Given the description of an element on the screen output the (x, y) to click on. 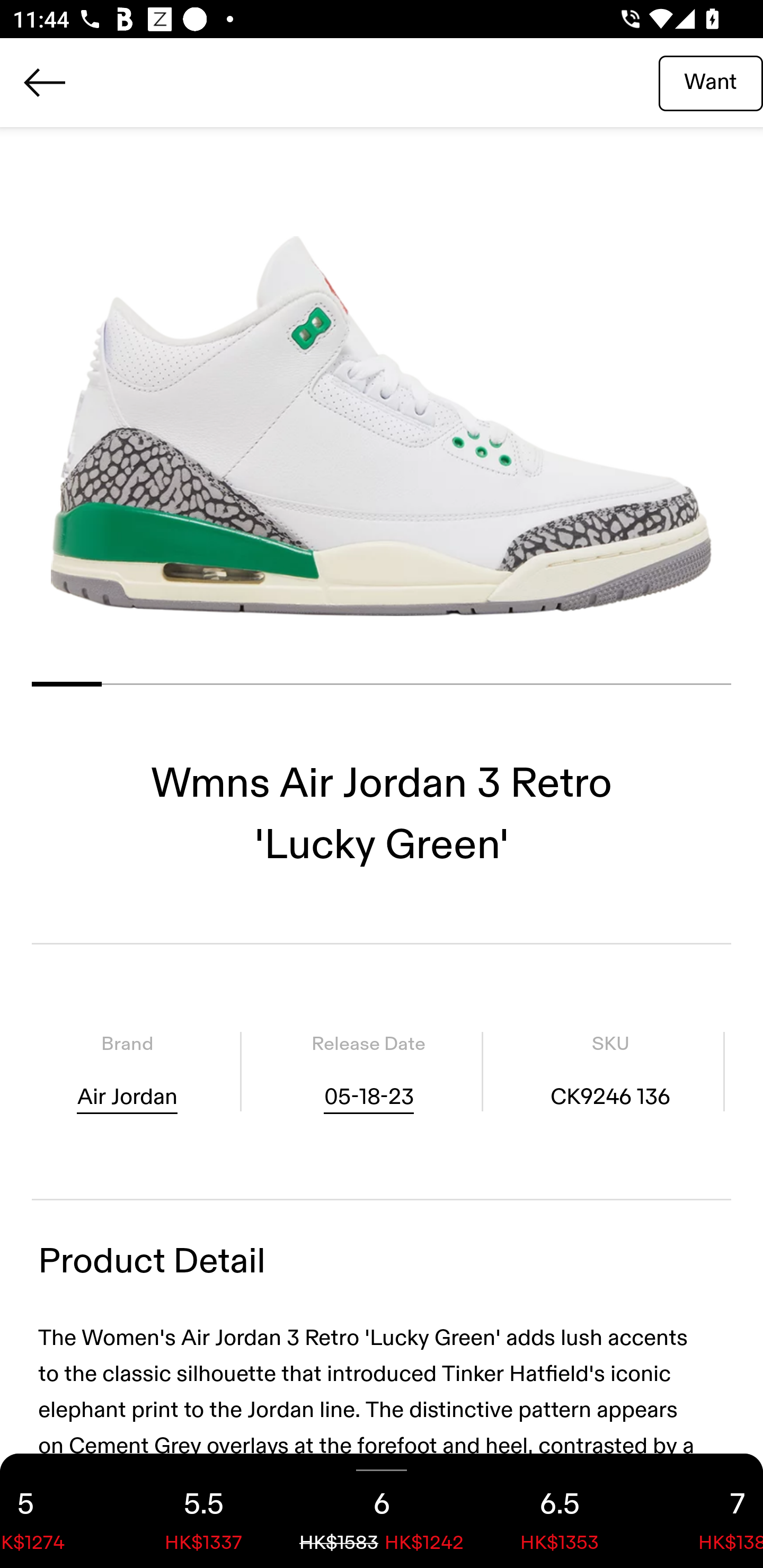
Want (710, 82)
Brand Air Jordan (126, 1070)
Release Date 05-18-23 (368, 1070)
SKU CK9246 136 (609, 1070)
5 HK$1274 (57, 1510)
5.5 HK$1337 (203, 1510)
6 HK$1583 HK$1242 (381, 1510)
6.5 HK$1353 (559, 1510)
7 HK$1385 (705, 1510)
